Given the description of an element on the screen output the (x, y) to click on. 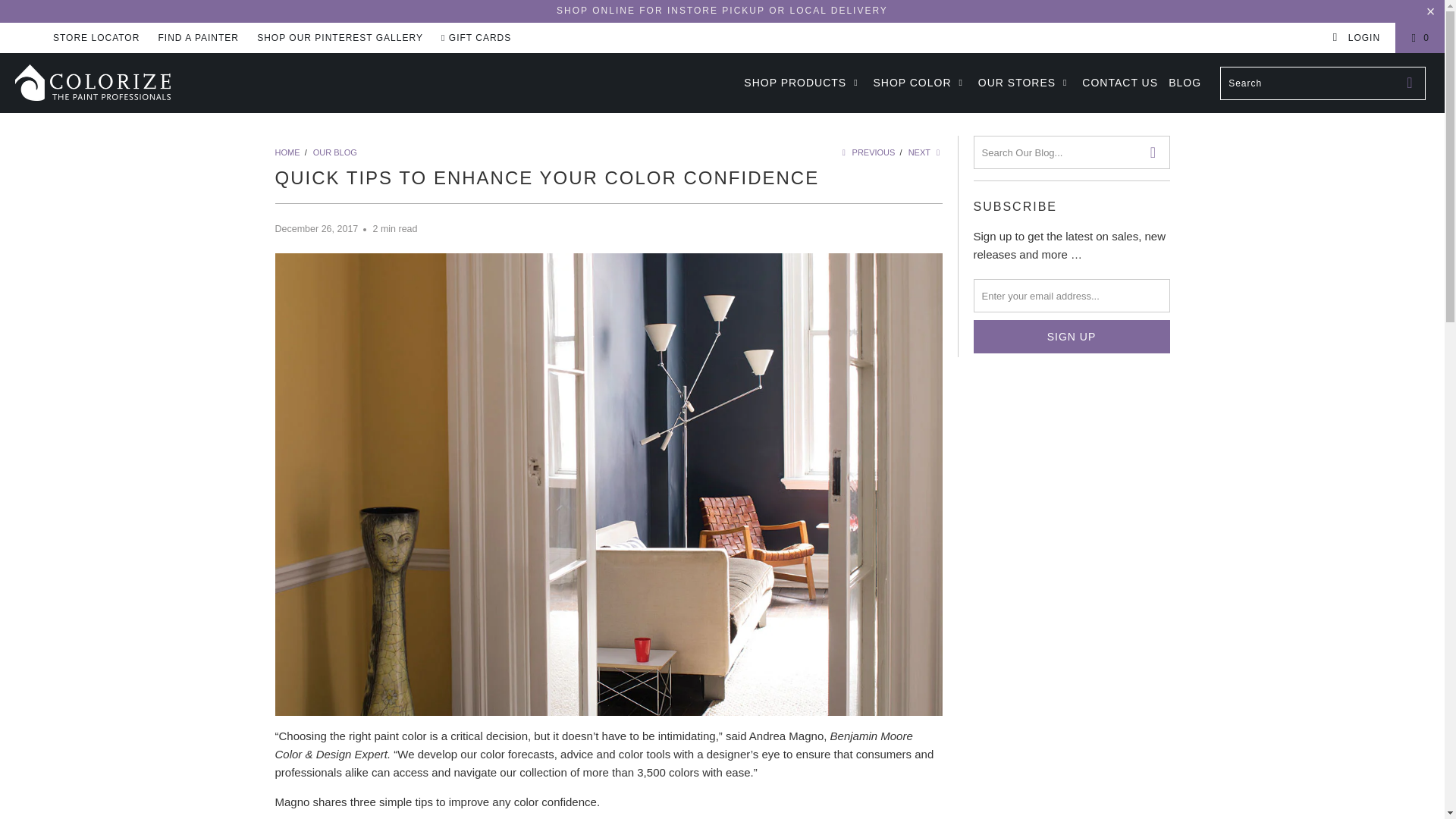
Colorize Inc. (122, 82)
Colorize Inc. (287, 152)
Sign Up (1072, 336)
My Account  (1355, 37)
Our Blog (334, 152)
